Given the description of an element on the screen output the (x, y) to click on. 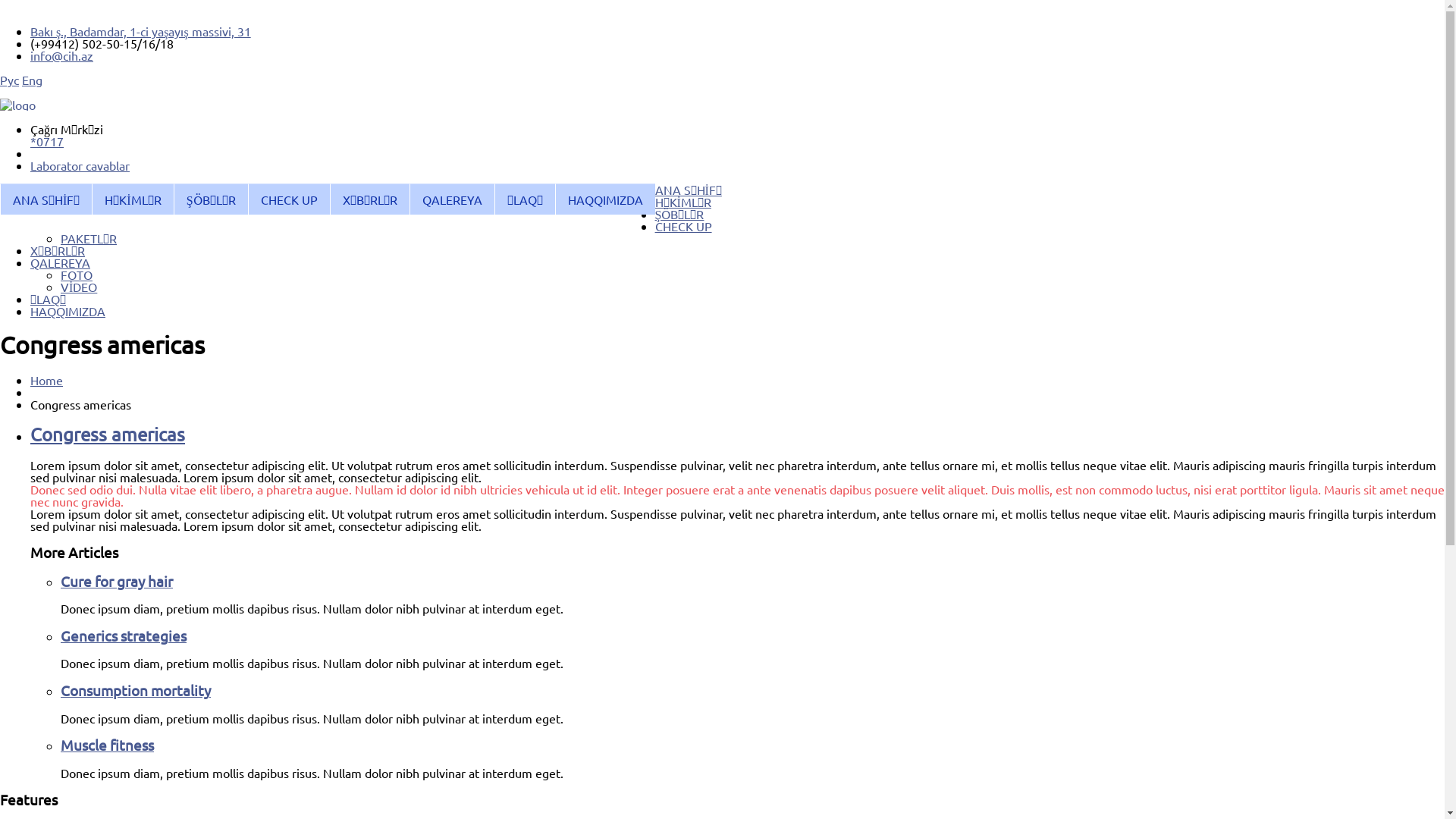
HAQQIMIZDA Element type: text (67, 310)
HAQQIMIZDA Element type: text (605, 198)
Generics strategies Element type: text (123, 635)
CHECK UP Element type: text (683, 225)
Congress americas Element type: text (107, 434)
Consumption mortality Element type: text (135, 689)
info@cih.az Element type: text (61, 54)
Home Element type: text (46, 379)
Muscle fitness Element type: text (106, 744)
QALEREYA Element type: text (451, 198)
QALEREYA Element type: text (60, 261)
*0717 Element type: text (46, 140)
Laborator cavablar Element type: text (737, 165)
CHECK UP Element type: text (288, 198)
FOTO Element type: text (76, 274)
Eng Element type: text (31, 79)
Caspian International Hospital Element type: hover (17, 104)
Cure for gray hair Element type: text (116, 580)
